Given the description of an element on the screen output the (x, y) to click on. 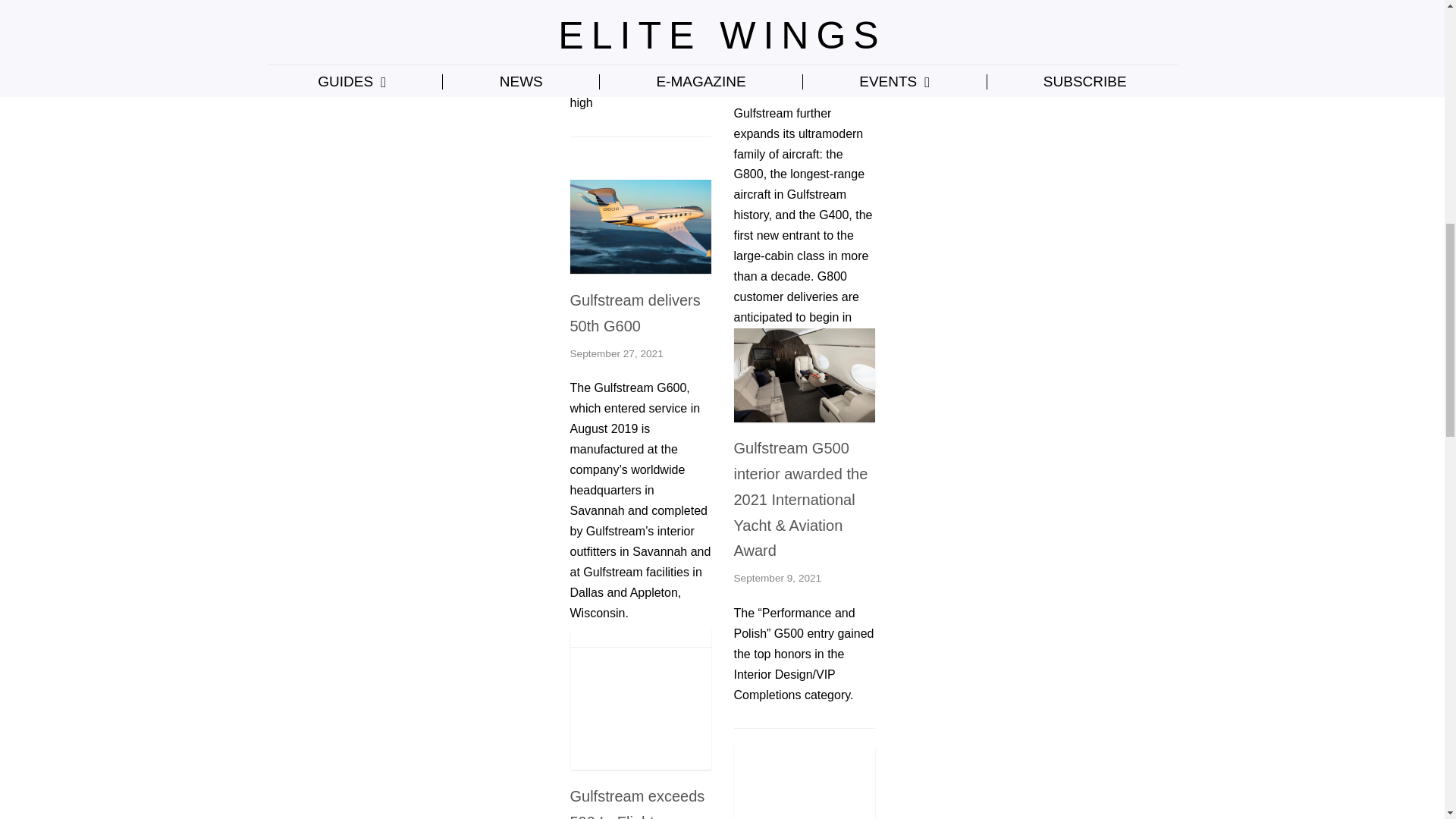
Gulfstream delivers 50th G600 (640, 269)
Gulfstream exceeds 500 In-Flight connectivity installations (640, 765)
